Given the description of an element on the screen output the (x, y) to click on. 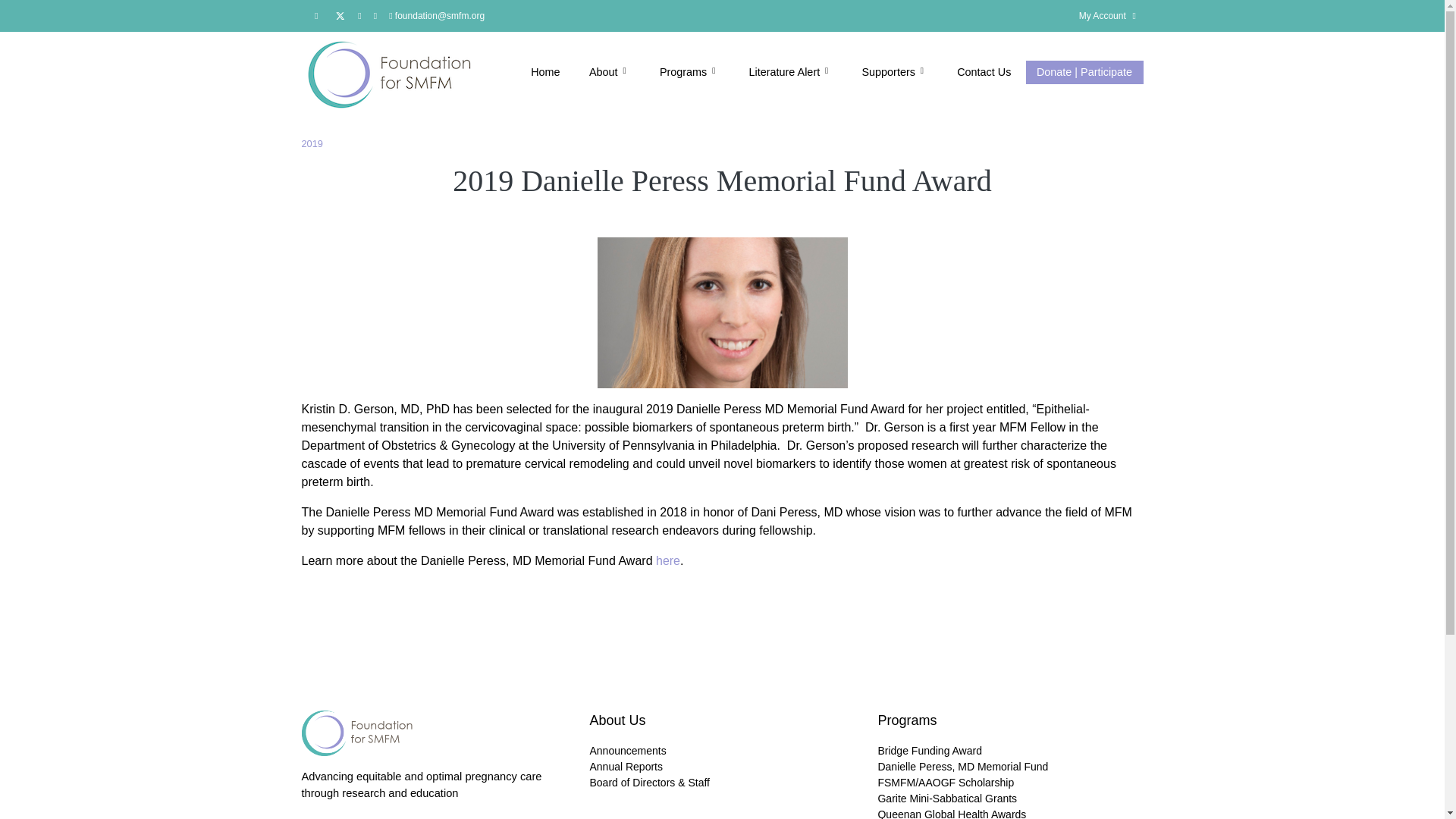
Programs (690, 72)
Supporters (894, 72)
About (610, 72)
Home (545, 72)
My Account (1103, 15)
Literature Alert (790, 72)
